Given the description of an element on the screen output the (x, y) to click on. 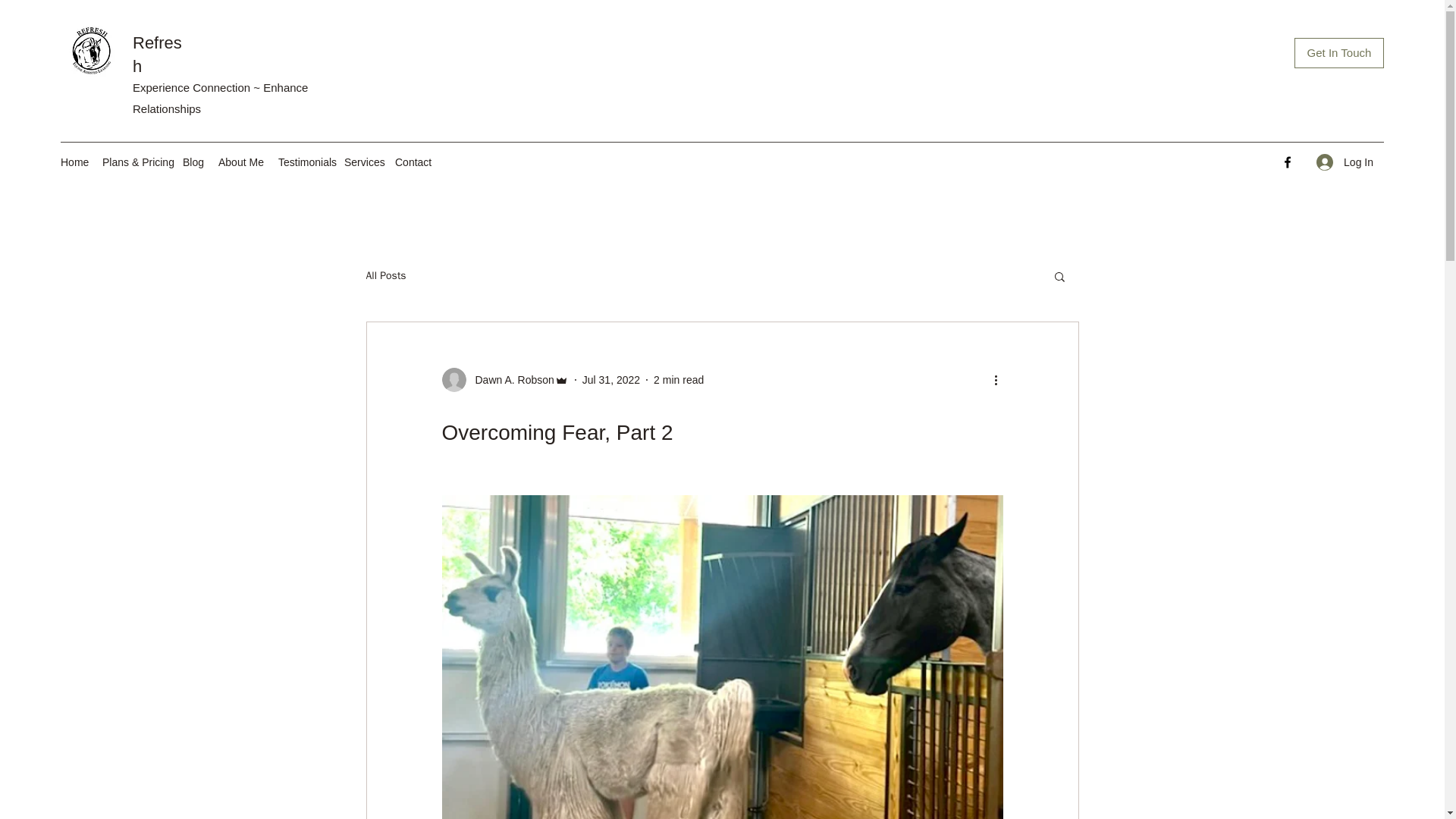
Blog (192, 161)
Dawn A. Robson (504, 379)
All Posts (385, 275)
Contact (412, 161)
Home (73, 161)
Log In (1345, 162)
Services (361, 161)
2 min read (678, 379)
About Me (240, 161)
Dawn A. Robson (509, 380)
Jul 31, 2022 (611, 379)
Testimonials (303, 161)
